Given the description of an element on the screen output the (x, y) to click on. 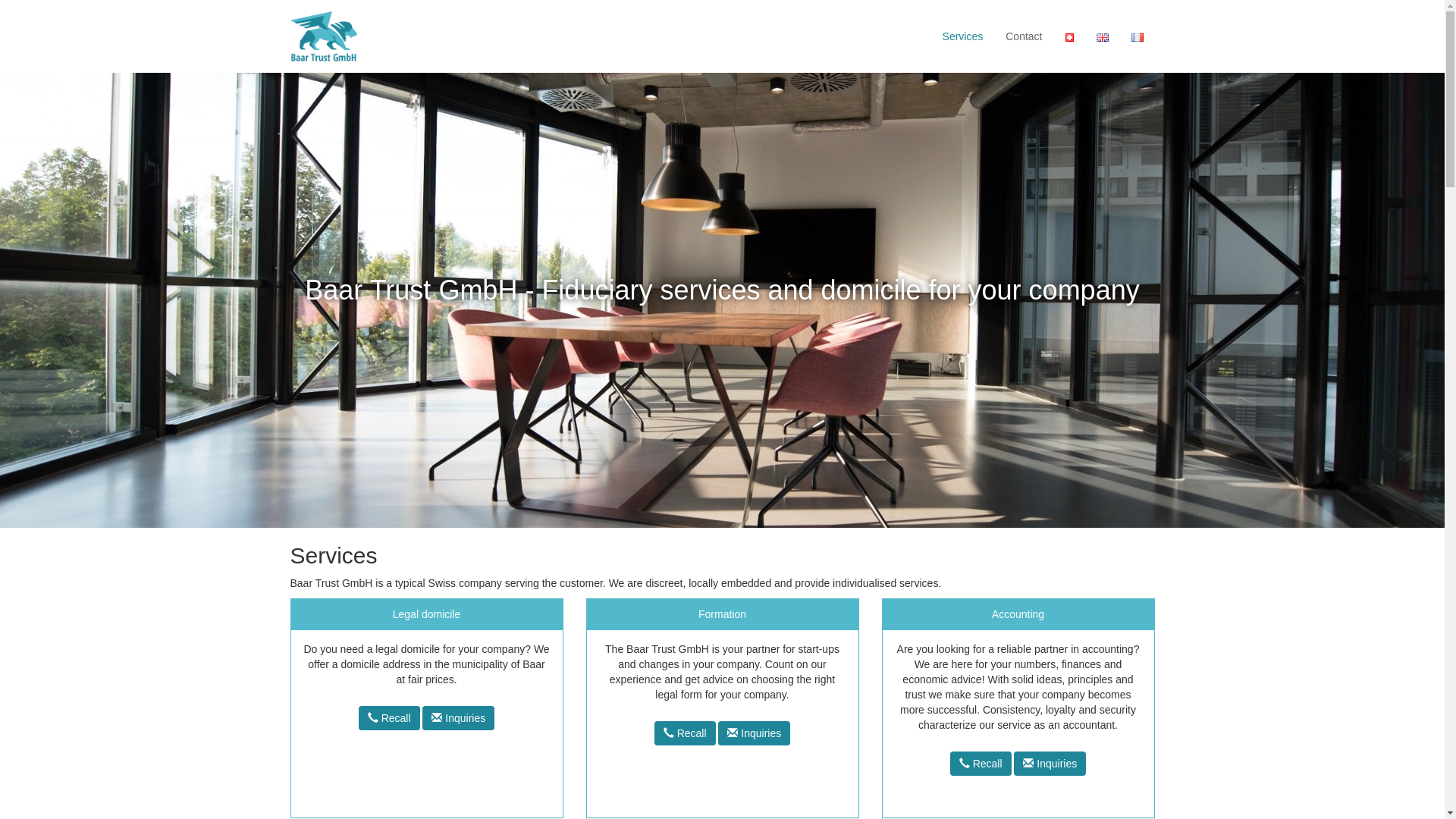
Inquiries Element type: text (754, 733)
Recall Element type: text (389, 718)
Inquiries Element type: text (1049, 763)
Inquiries Element type: text (458, 718)
English Element type: hover (1102, 37)
Contact Element type: text (1023, 36)
Services Element type: text (962, 36)
Recall Element type: text (684, 733)
Deutsch Element type: hover (1068, 37)
Recall Element type: text (980, 763)
